Given the description of an element on the screen output the (x, y) to click on. 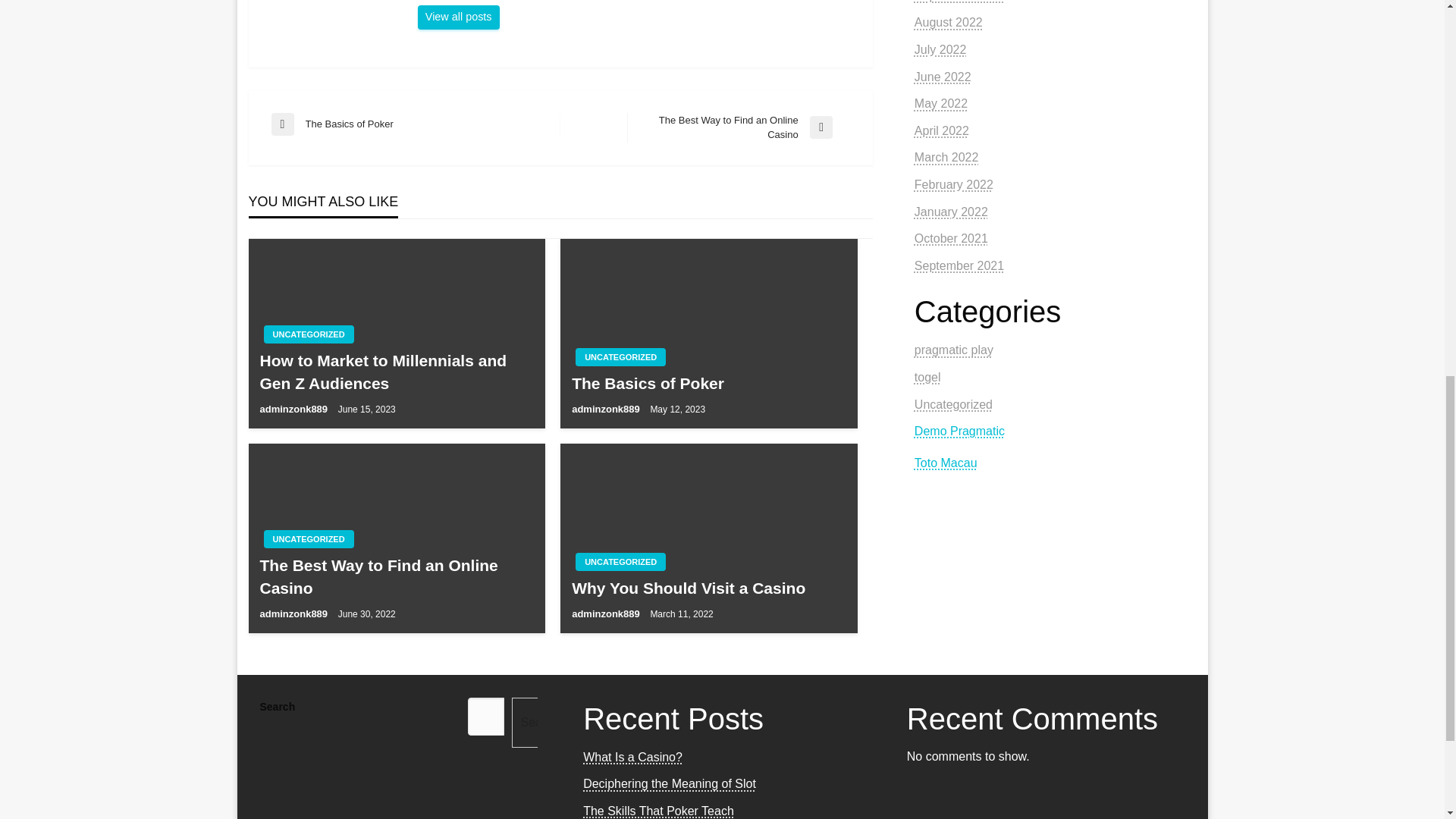
Why You Should Visit a Casino (708, 587)
UNCATEGORIZED (620, 357)
adminzonk889 (607, 408)
UNCATEGORIZED (738, 127)
View all posts (620, 561)
UNCATEGORIZED (458, 16)
adminzonk889 (308, 334)
adminzonk889 (294, 408)
How to Market to Millennials and Gen Z Audiences (294, 613)
